Given the description of an element on the screen output the (x, y) to click on. 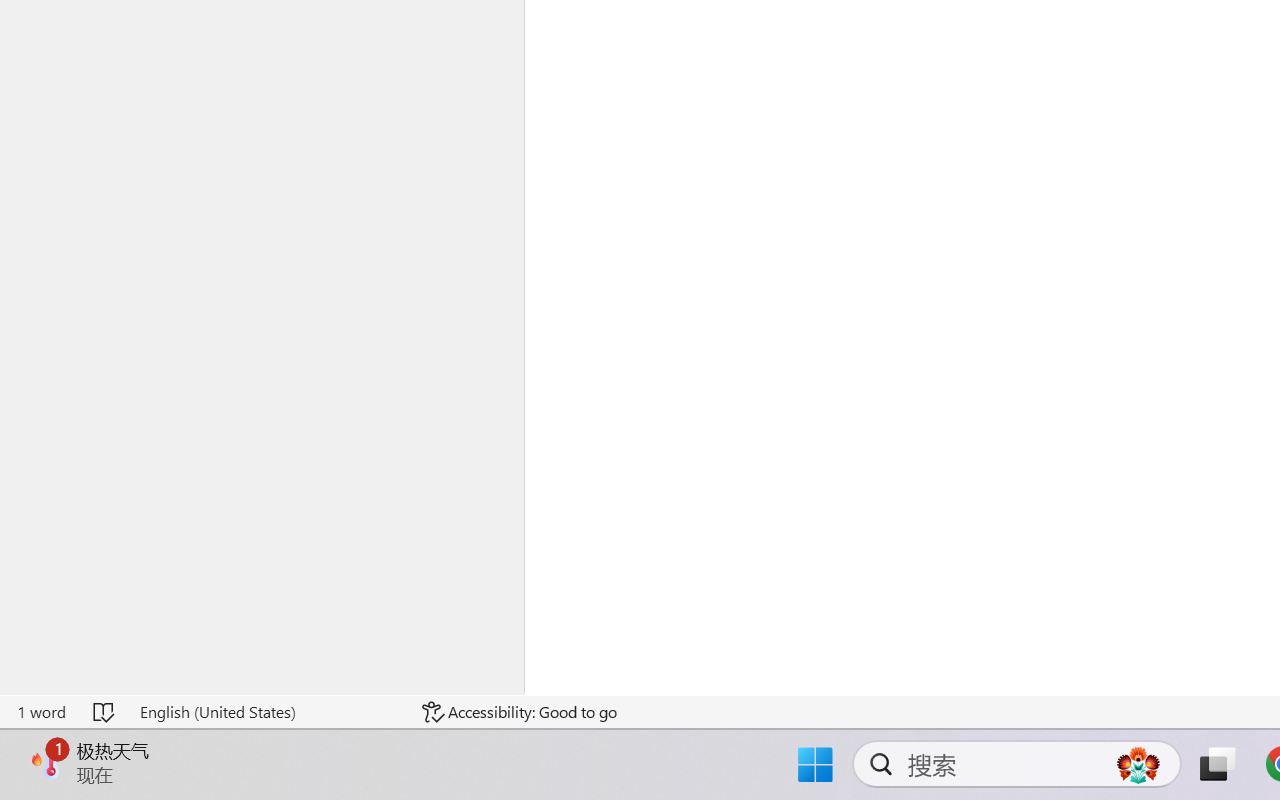
Word Count 1 word (41, 712)
AutomationID: DynamicSearchBoxGleamImage (1138, 764)
Spelling and Grammar Check No Errors (105, 712)
AutomationID: BadgeAnchorLargeTicker (46, 762)
Language English (United States) (267, 712)
Accessibility Checker Accessibility: Good to go (519, 712)
